Given the description of an element on the screen output the (x, y) to click on. 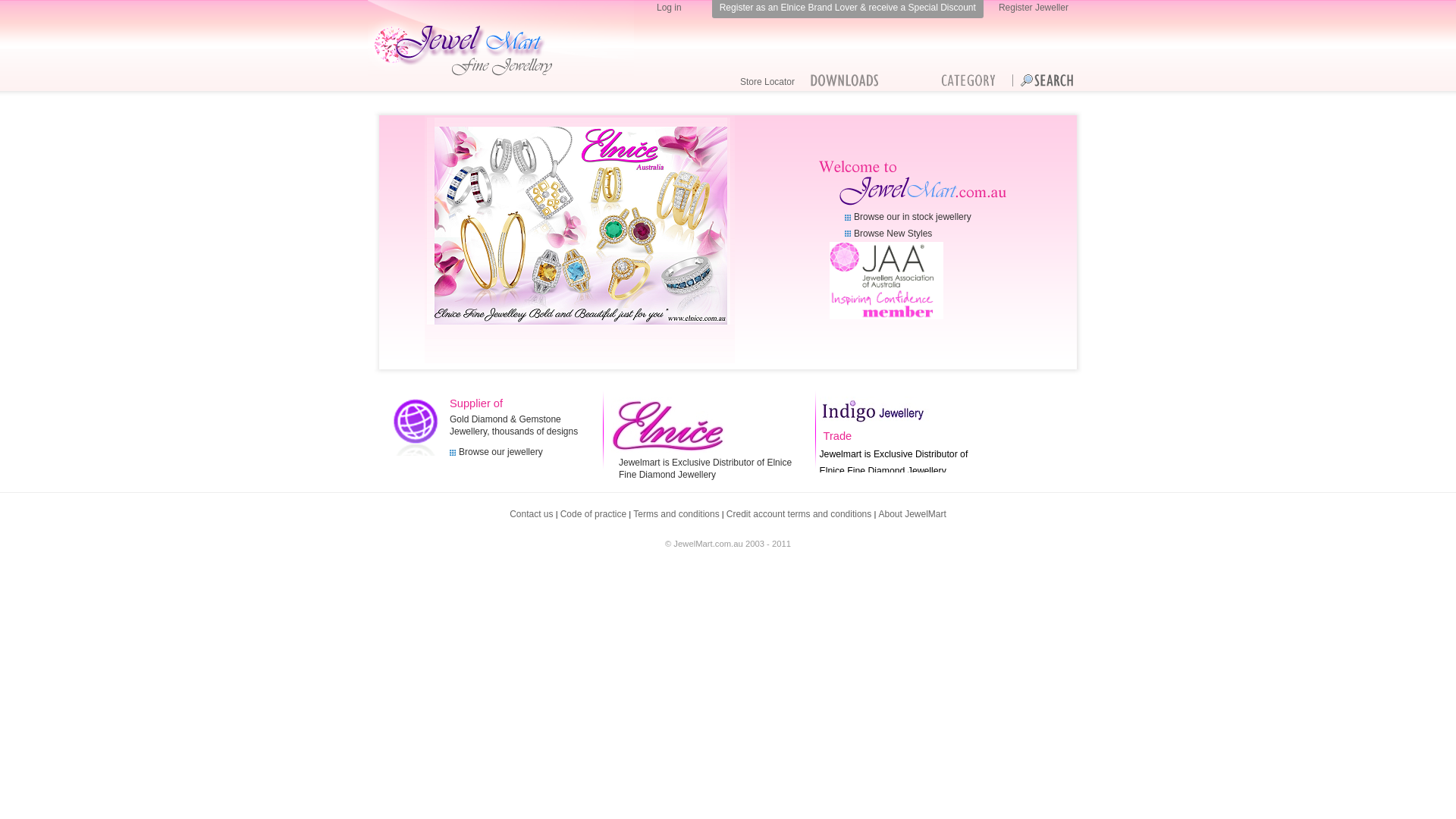
Terms and conditions Element type: text (675, 513)
Browse our jewellery Element type: text (495, 452)
Register Jeweller Element type: text (1033, 7)
Back to home page Element type: hover (500, 37)
Contact us Element type: text (530, 513)
Browse New Styles Element type: text (887, 233)
Code of practice Element type: text (593, 513)
About JewelMart Element type: text (911, 513)
Credit account terms and conditions Element type: text (798, 513)
Log in Element type: text (668, 7)
click to search Element type: hover (1050, 82)
Store Locator Element type: text (767, 81)
downloads Element type: text (844, 80)
Browse our in stock jewellery Element type: text (907, 216)
Click to search Element type: hover (1042, 80)
